Given the description of an element on the screen output the (x, y) to click on. 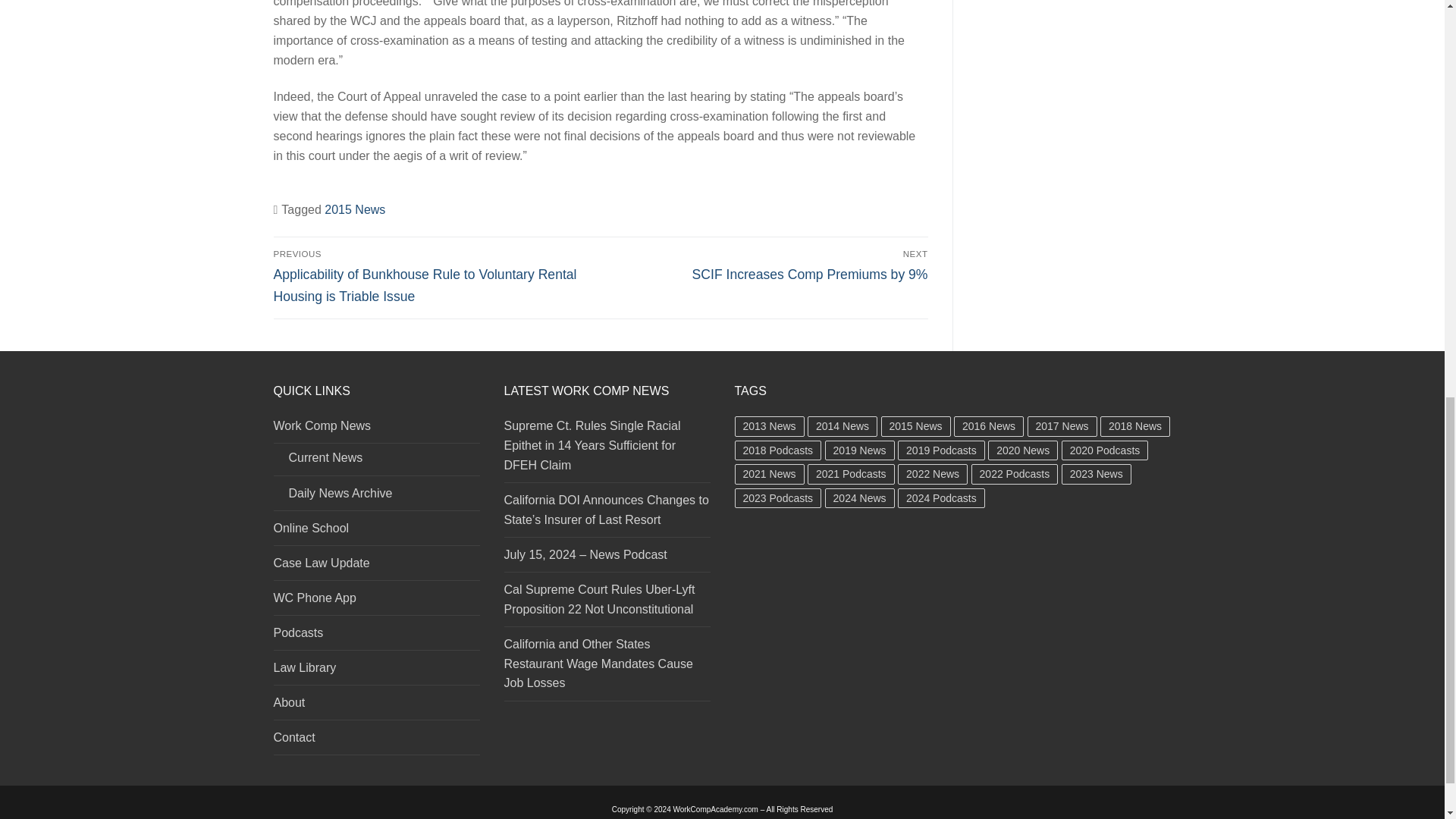
Work Comp News  (376, 429)
Current News (376, 461)
2015 News (354, 209)
Daily News Archive (376, 497)
